Given the description of an element on the screen output the (x, y) to click on. 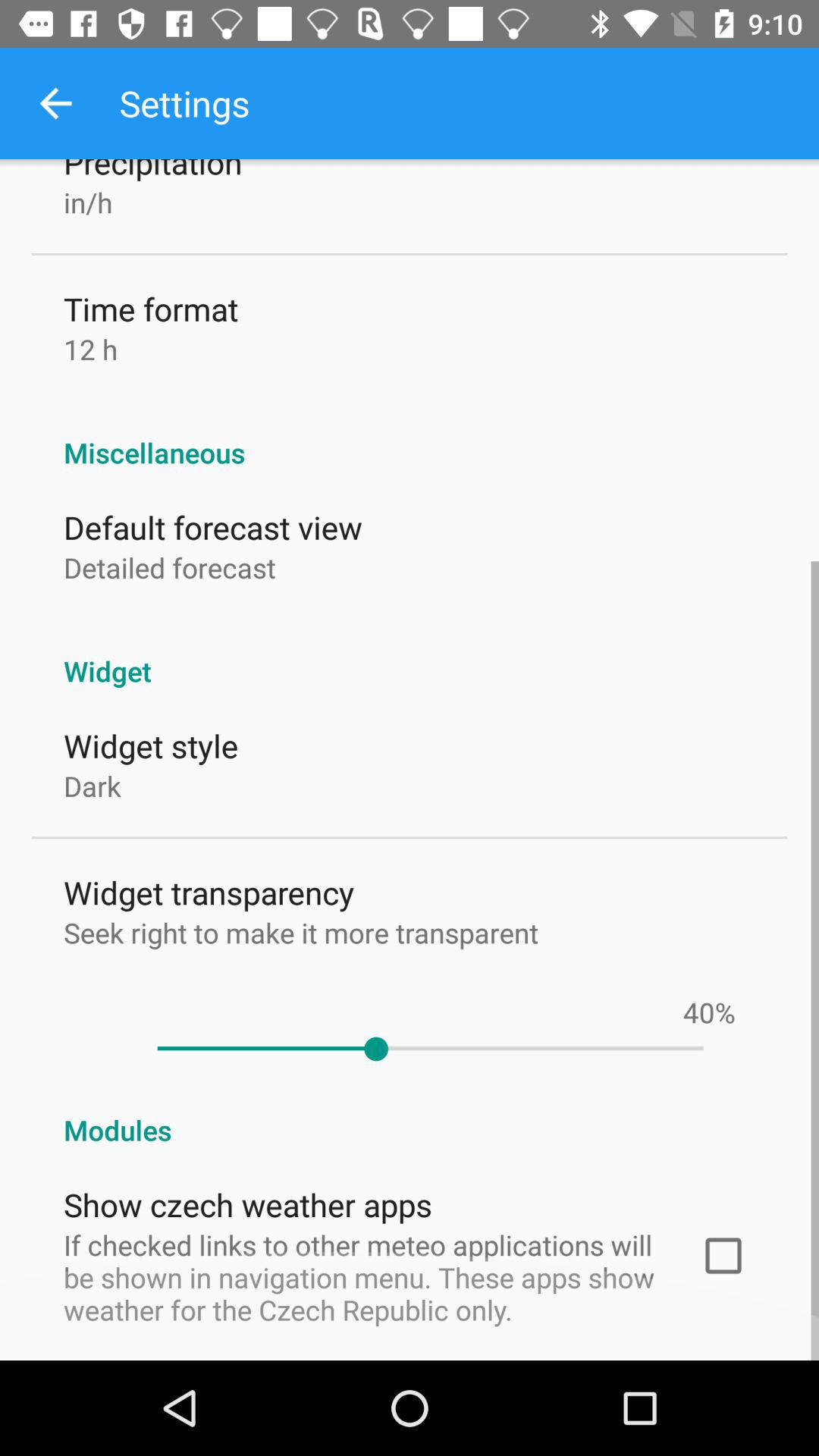
press the icon above the widget transparency (92, 785)
